Given the description of an element on the screen output the (x, y) to click on. 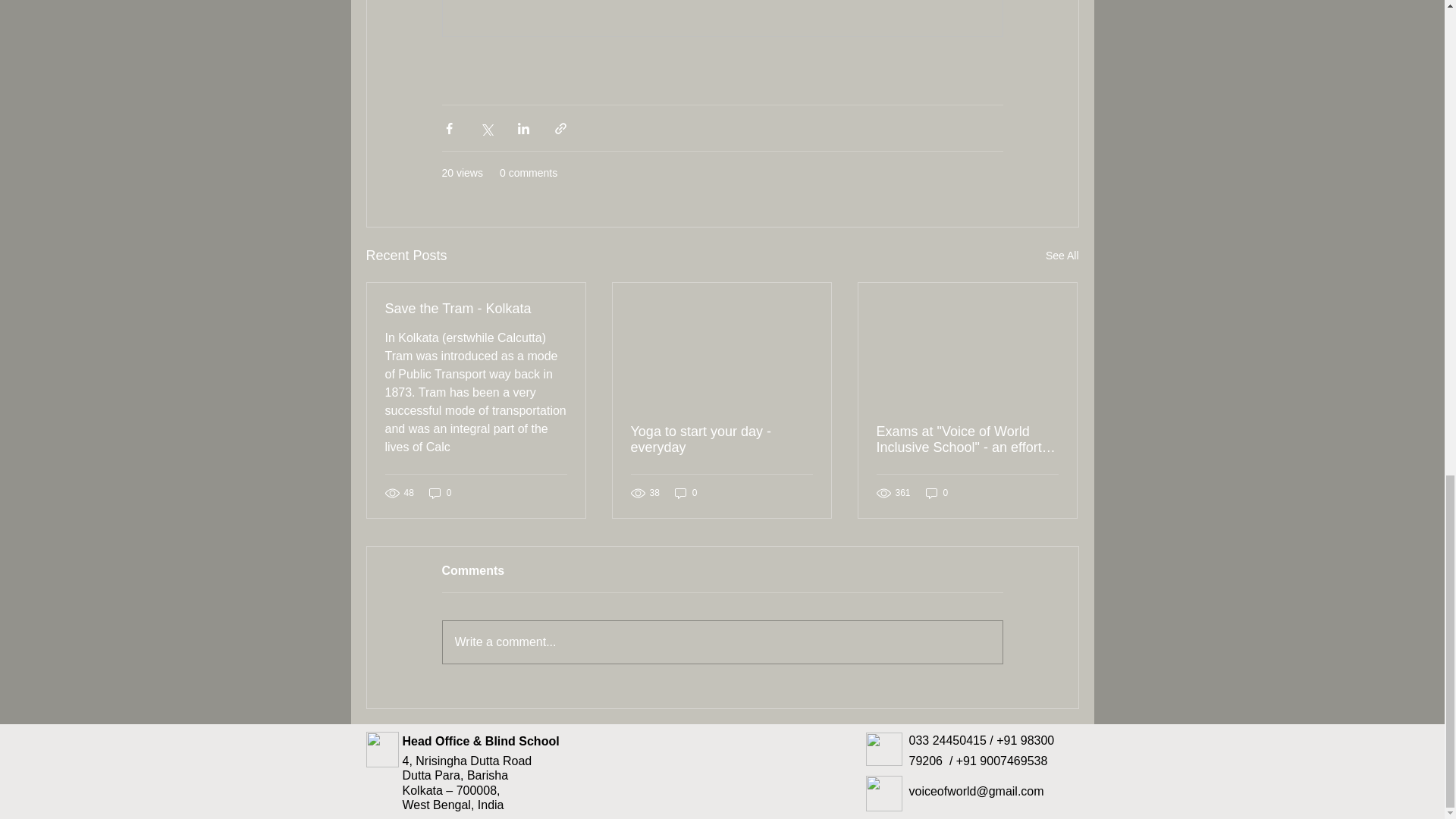
0 (937, 493)
0 (440, 493)
0 (685, 493)
Save the Tram - Kolkata (476, 308)
See All (1061, 255)
Write a comment... (722, 641)
Yoga to start your day - everyday (721, 439)
